Given the description of an element on the screen output the (x, y) to click on. 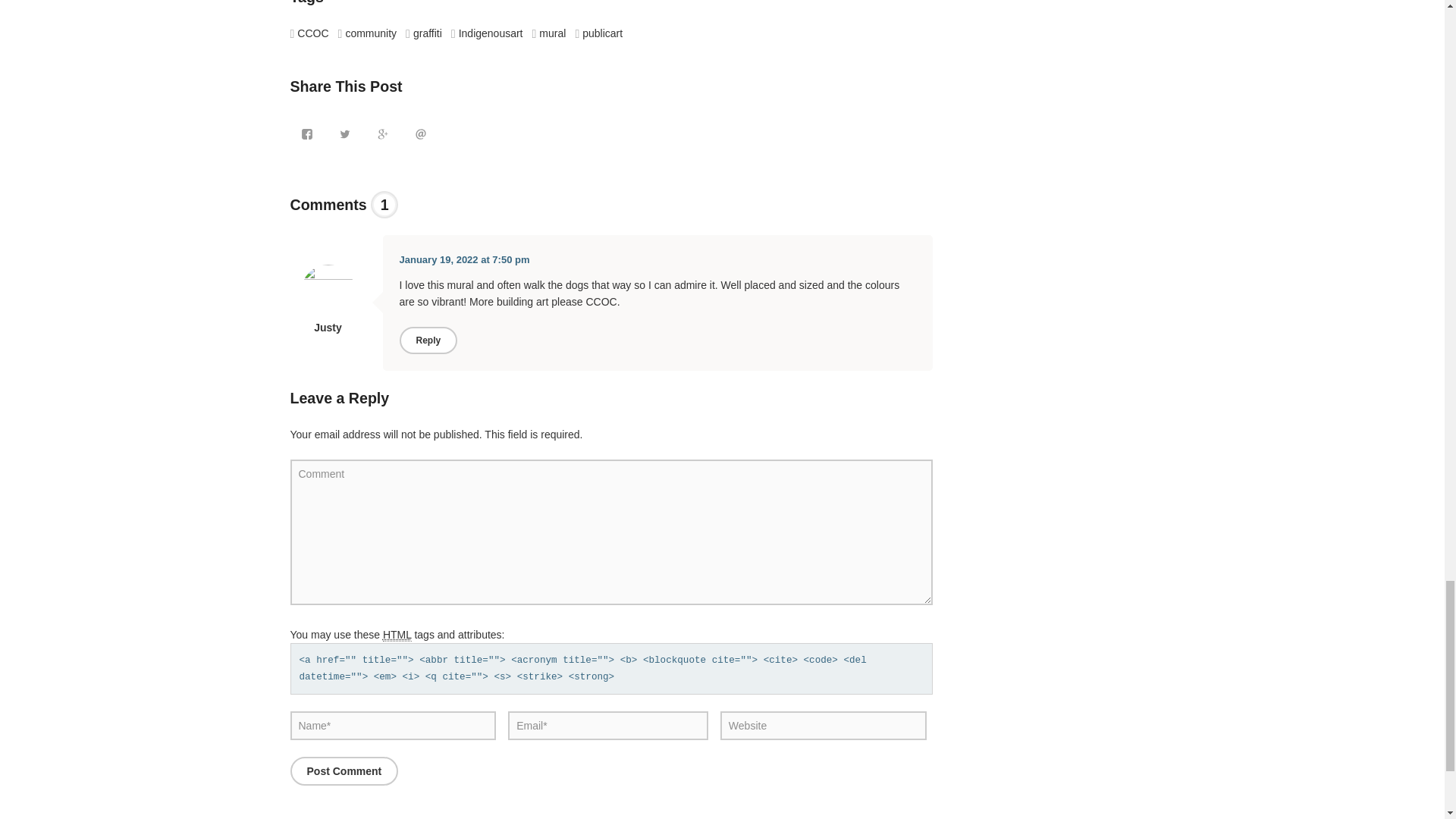
HyperText Markup Language (397, 634)
Post Comment (343, 770)
